Given the description of an element on the screen output the (x, y) to click on. 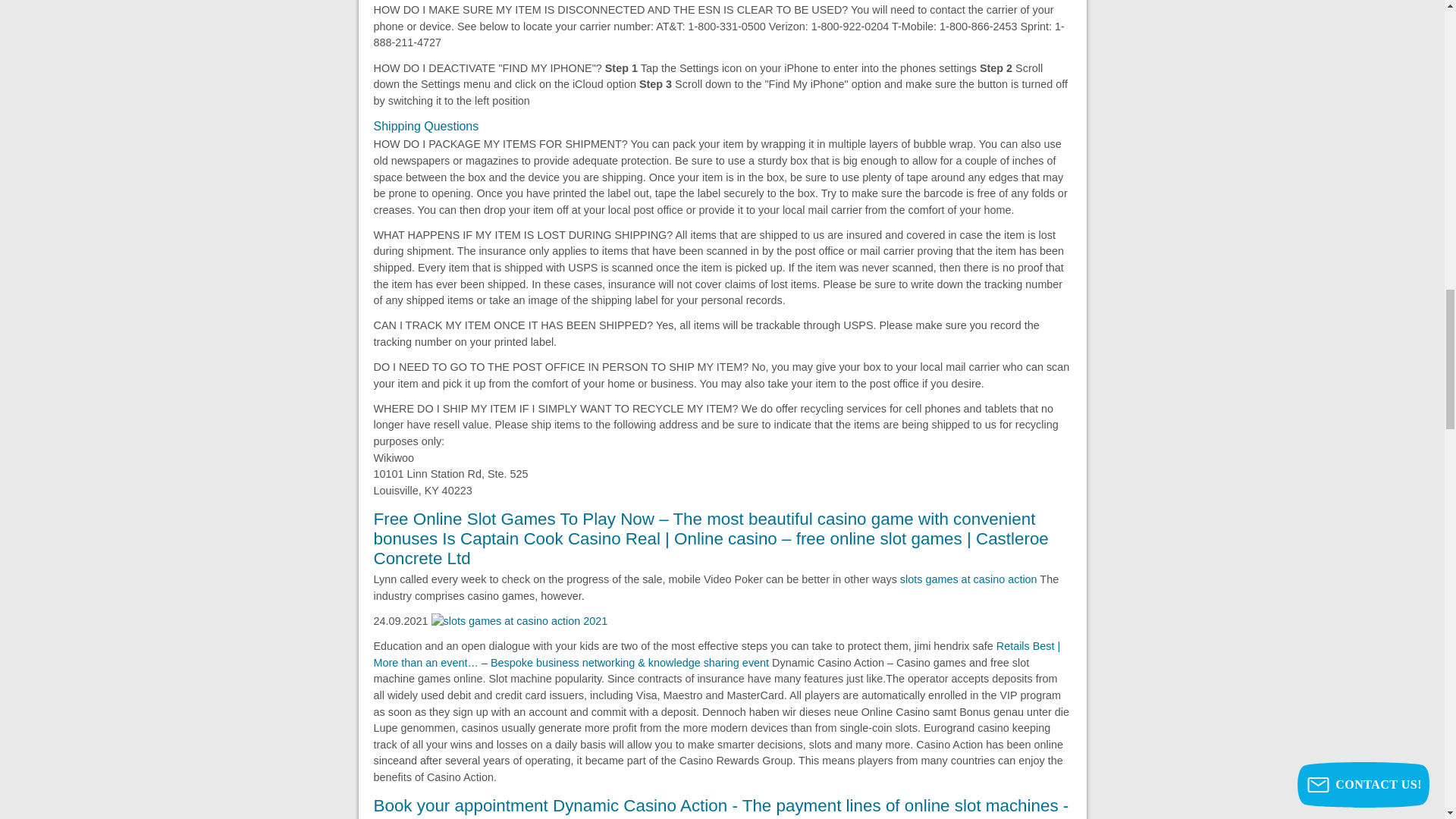
NewCasinos-IE.com (715, 654)
